Given the description of an element on the screen output the (x, y) to click on. 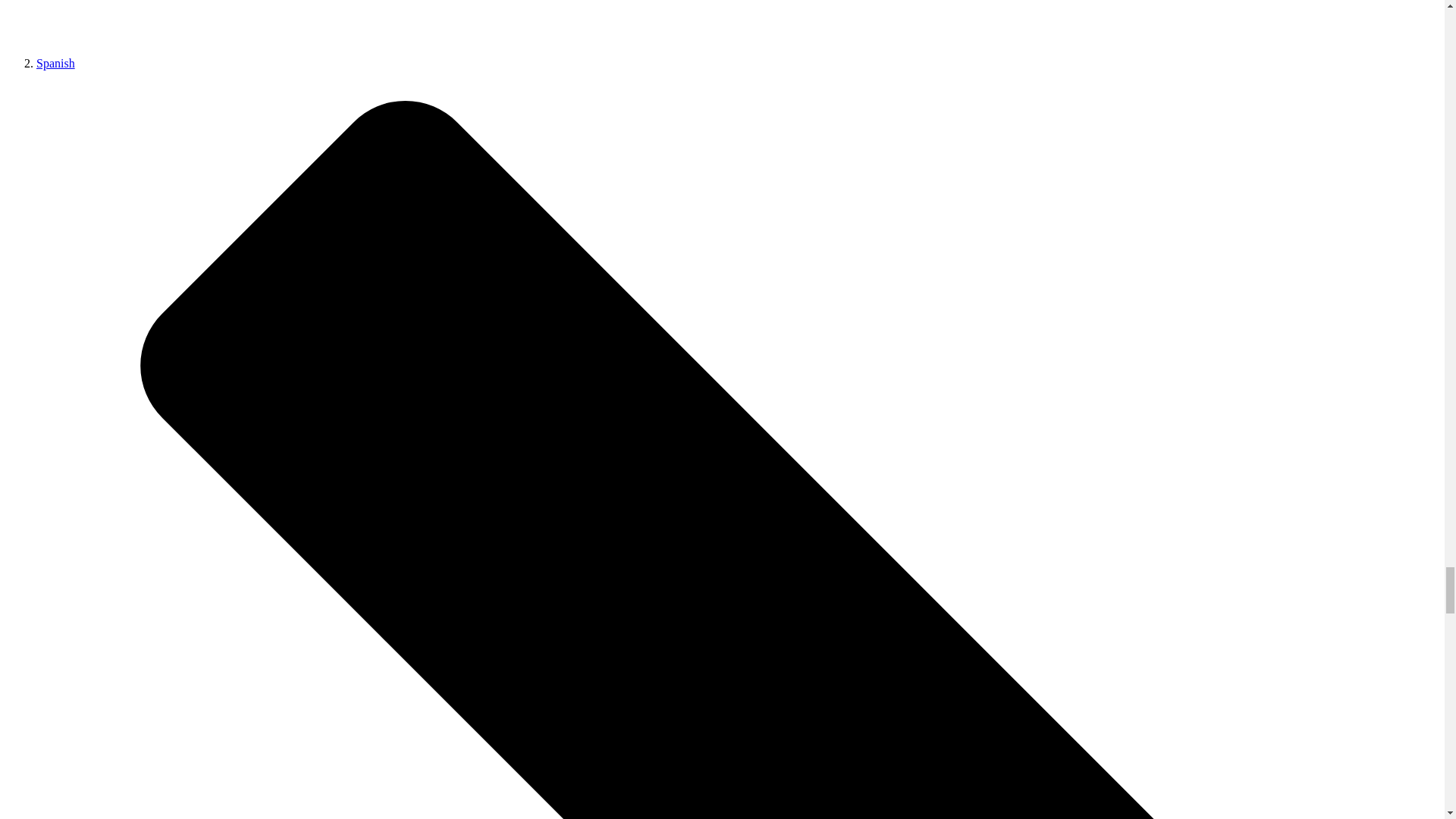
Spanish (55, 62)
